Given the description of an element on the screen output the (x, y) to click on. 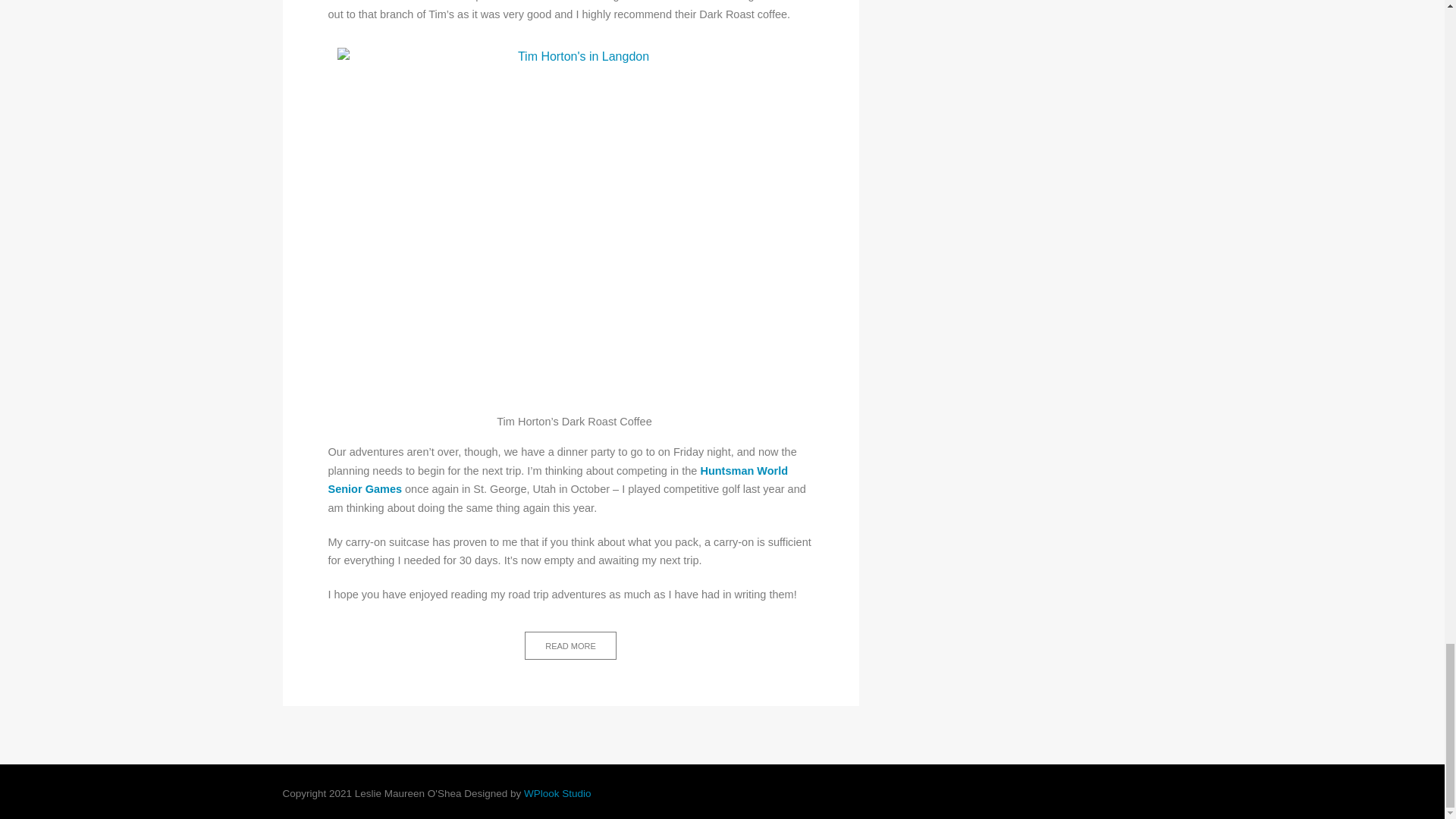
READ MORE (569, 645)
Tim Hortons (547, 0)
WPlook Studio (557, 793)
Huntsman World Senior Games (557, 480)
WPlook Studio (557, 793)
